Given the description of an element on the screen output the (x, y) to click on. 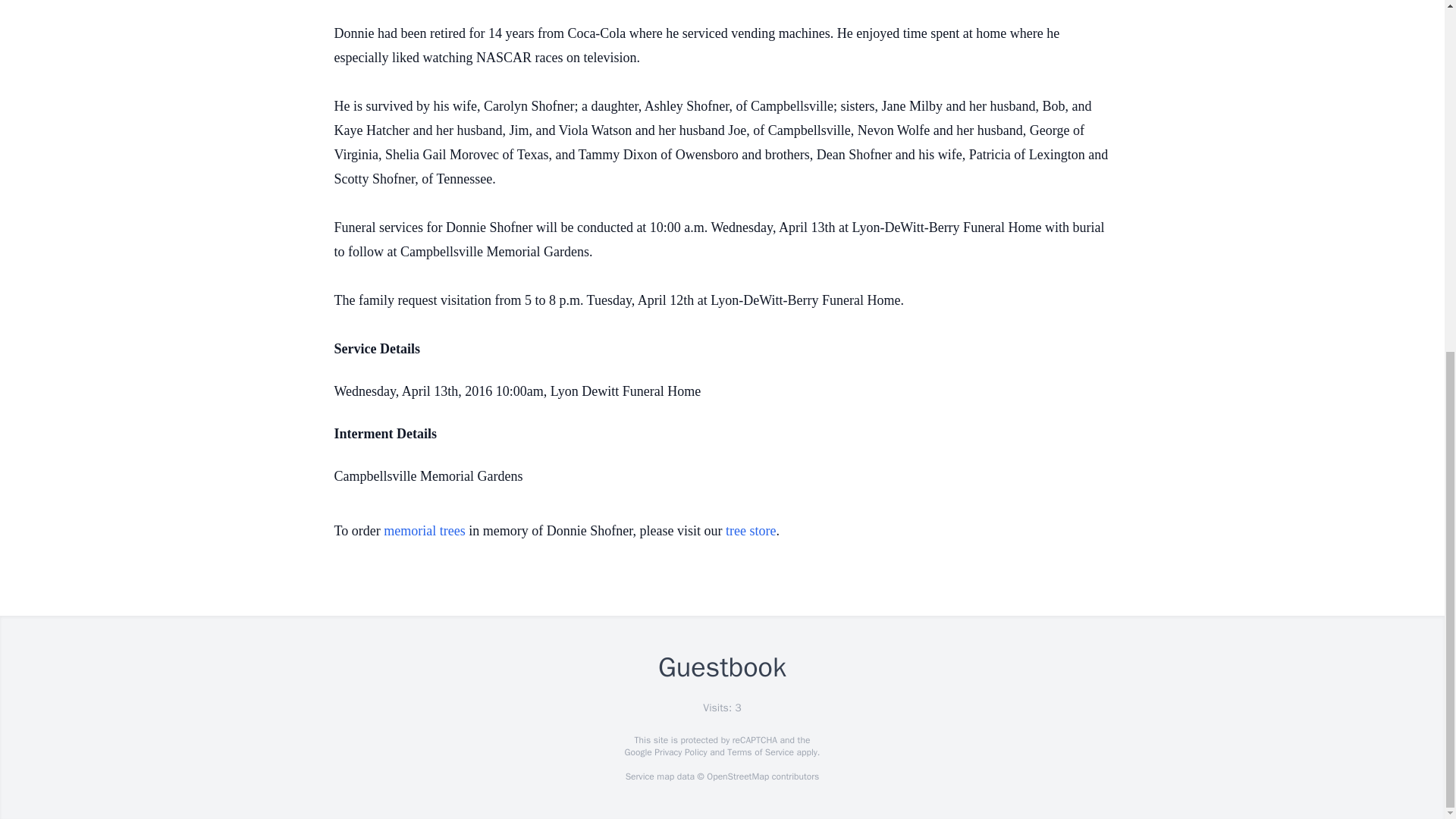
OpenStreetMap (737, 776)
memorial trees (424, 530)
tree store (750, 530)
Terms of Service (759, 752)
Privacy Policy (679, 752)
